Given the description of an element on the screen output the (x, y) to click on. 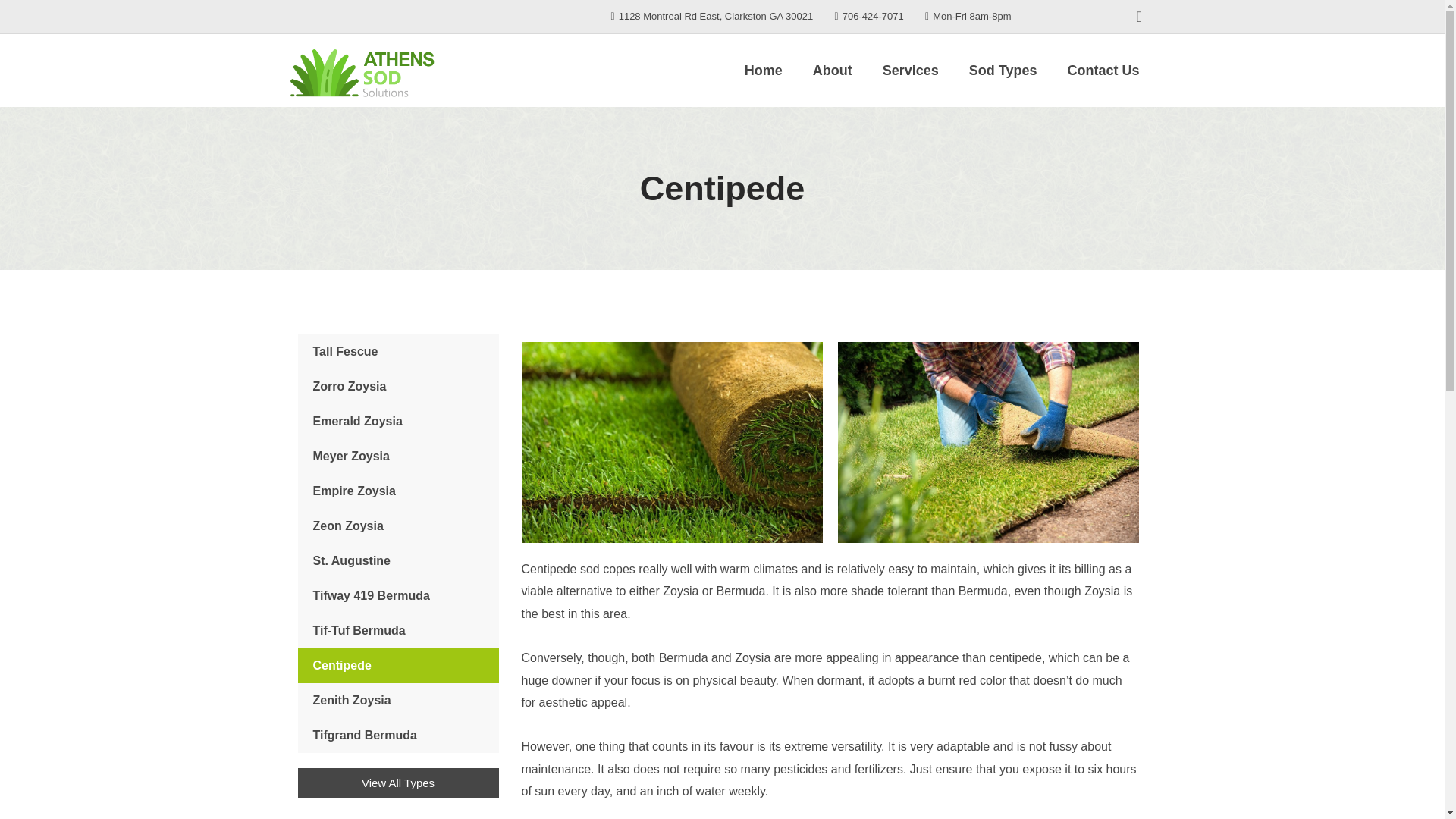
Facebook (1139, 16)
About (832, 70)
Sod Types (1002, 70)
Services (910, 70)
Home (763, 70)
Contact Us (1102, 70)
